Given the description of an element on the screen output the (x, y) to click on. 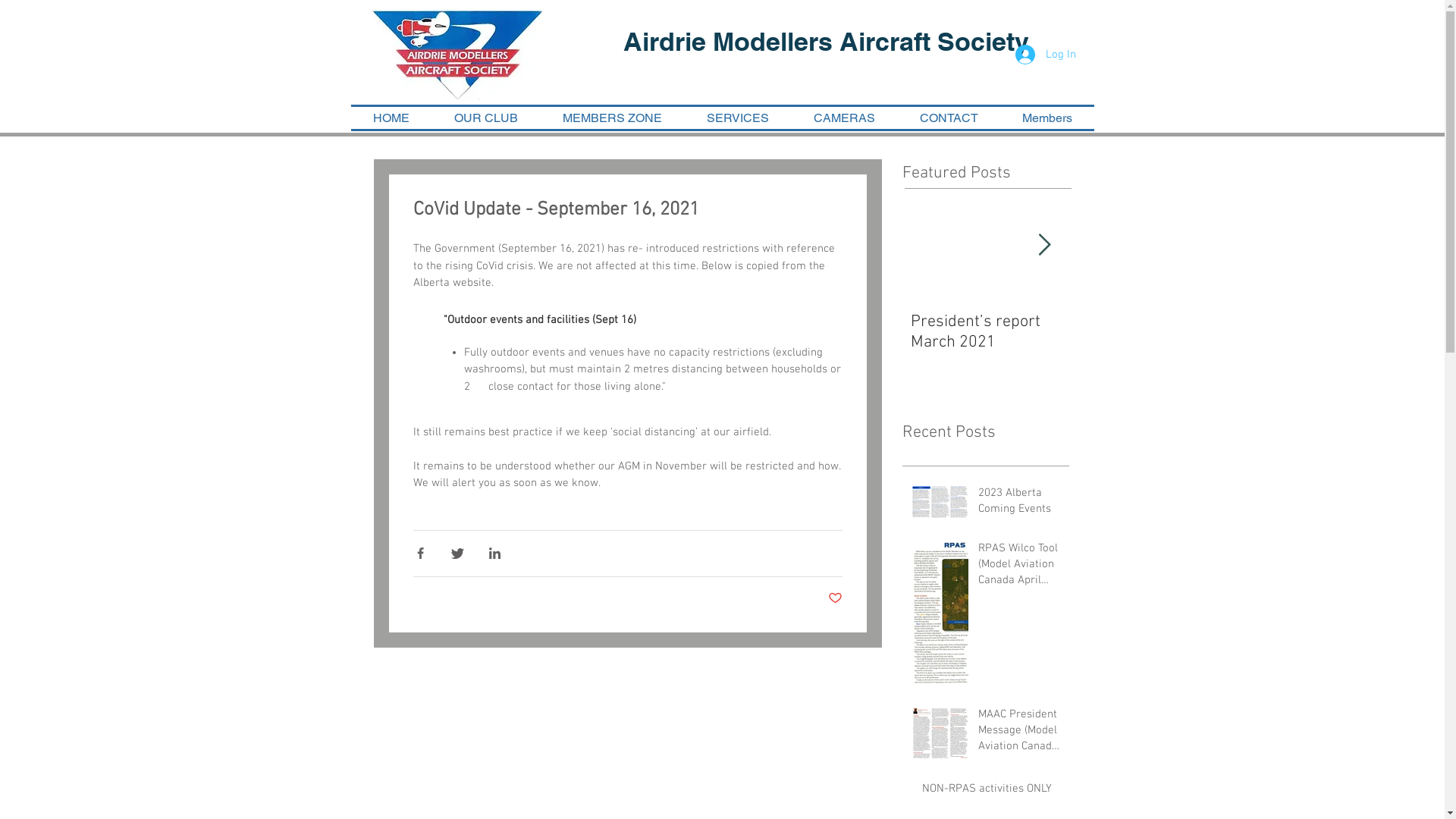
MAAC President Message (Model Aviation Canada April 2023) Element type: text (1019, 733)
CONTACT Element type: text (948, 117)
NON-RPAS activities ONLY Element type: text (991, 792)
Bylaws and Policy Manual Element type: text (985, 331)
Post not marked as liked Element type: text (835, 598)
2023 Alberta Coming Events Element type: text (1019, 504)
MEMBERS ZONE Element type: text (611, 117)
Members Element type: text (1046, 117)
OUR CLUB Element type: text (486, 117)
CAMERAS Element type: text (844, 117)
SERVICES Element type: text (737, 117)
HOME Element type: text (390, 117)
RPAS Wilco Tool (Model Aviation Canada April 2023) Element type: text (1019, 567)
Log In Element type: text (1044, 54)
